Given the description of an element on the screen output the (x, y) to click on. 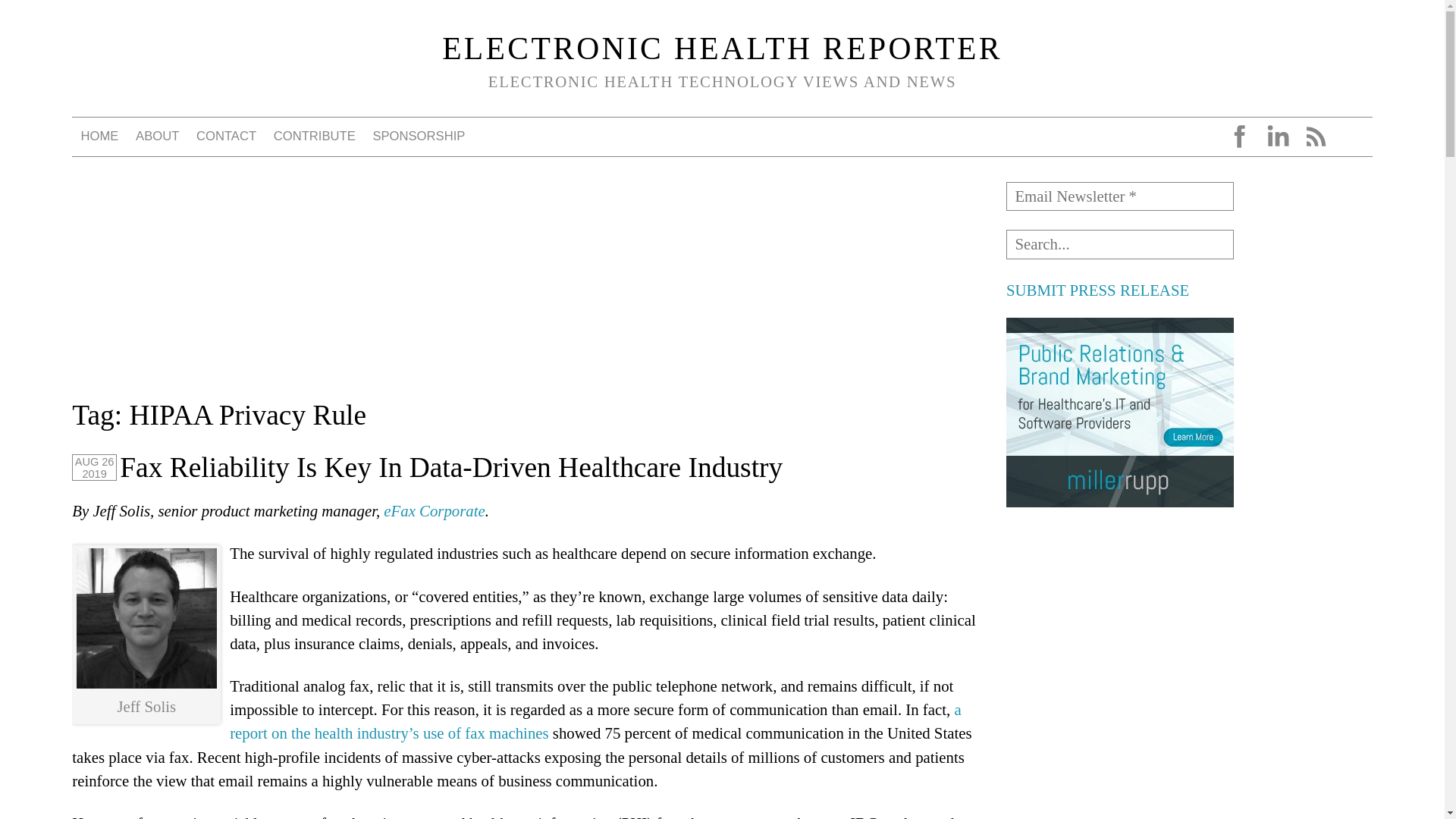
ABOUT (157, 136)
August 26, 2019 7:46 am (93, 467)
RSS FEED (1315, 136)
LINKEDIN (1277, 136)
SPONSORSHIP (418, 136)
FACEBOOK (1239, 136)
Fax Reliability Is Key In Data-Driven Healthcare Industry (451, 467)
CONTACT (226, 136)
ELECTRONIC HEALTH REPORTER (722, 48)
HOME (99, 136)
eFax Corporate (434, 510)
CONTRIBUTE (313, 136)
